Given the description of an element on the screen output the (x, y) to click on. 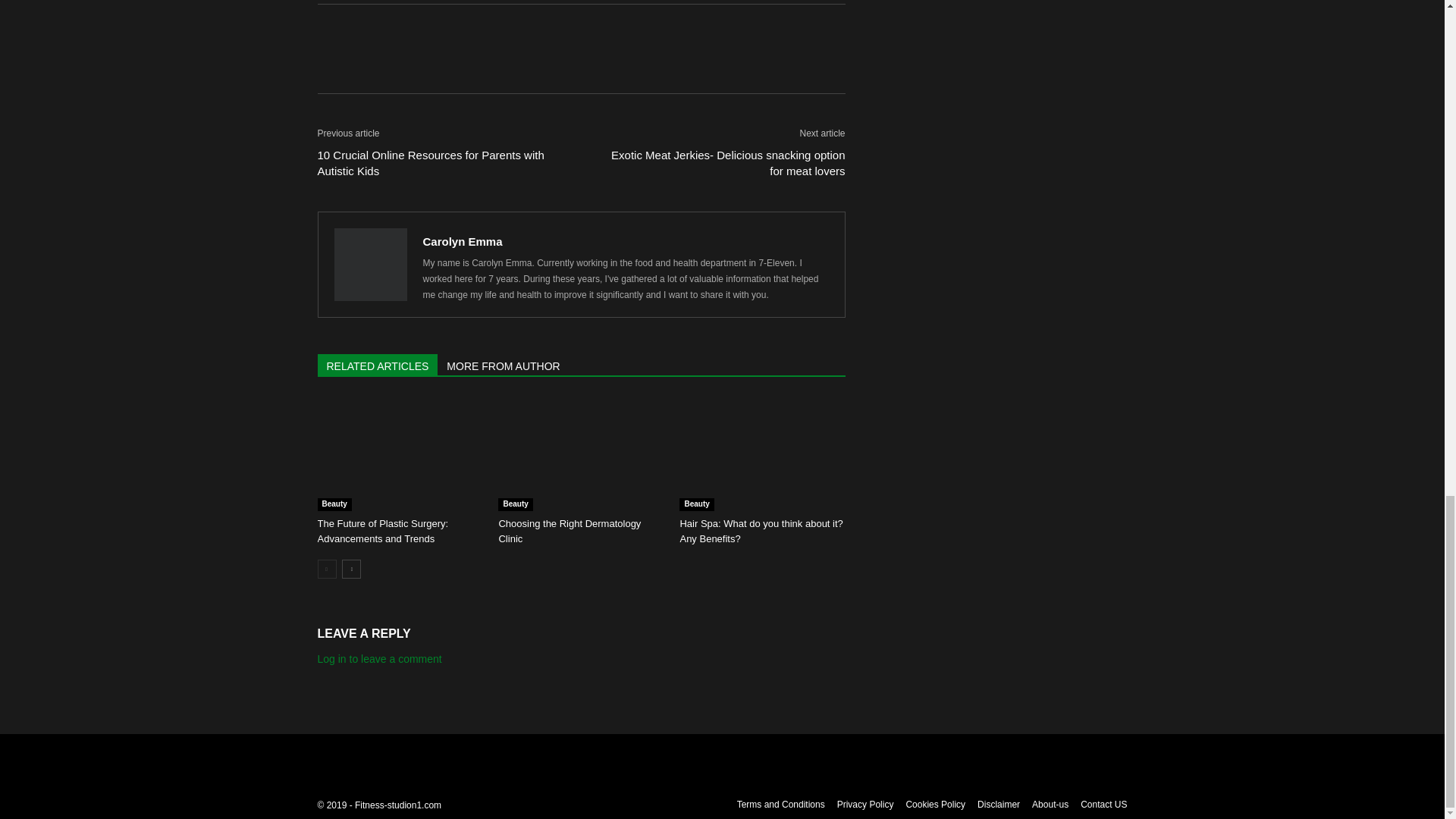
bottomFacebookLike (430, 28)
The Future of Plastic Surgery: Advancements and Trends (399, 454)
10 Crucial Online Resources for Parents with Autistic Kids (439, 163)
The Future of Plastic Surgery: Advancements and Trends (382, 530)
Carolyn Emma (462, 241)
Choosing the Right Dermatology Clinic (580, 454)
RELATED ARTICLES (377, 364)
